Given the description of an element on the screen output the (x, y) to click on. 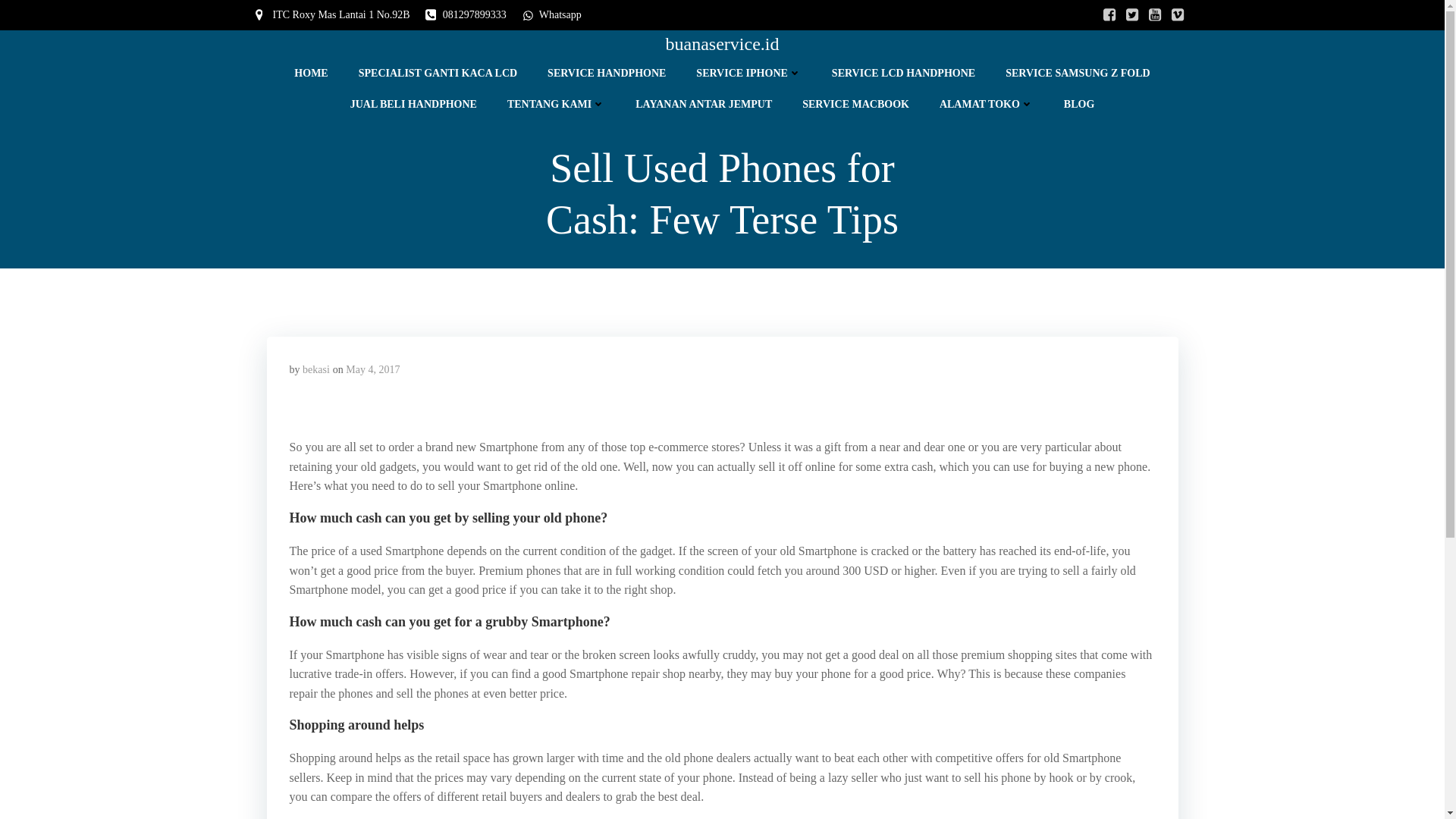
SERVICE HANDPHONE (606, 73)
HOME (310, 73)
SERVICE MACBOOK (855, 104)
TENTANG KAMI (555, 104)
buanaservice.id (721, 43)
SERVICE LCD HANDPHONE (903, 73)
LAYANAN ANTAR JEMPUT (702, 104)
SPECIALIST GANTI KACA LCD (437, 73)
SERVICE IPHONE (747, 73)
081297899333 (465, 15)
